Given the description of an element on the screen output the (x, y) to click on. 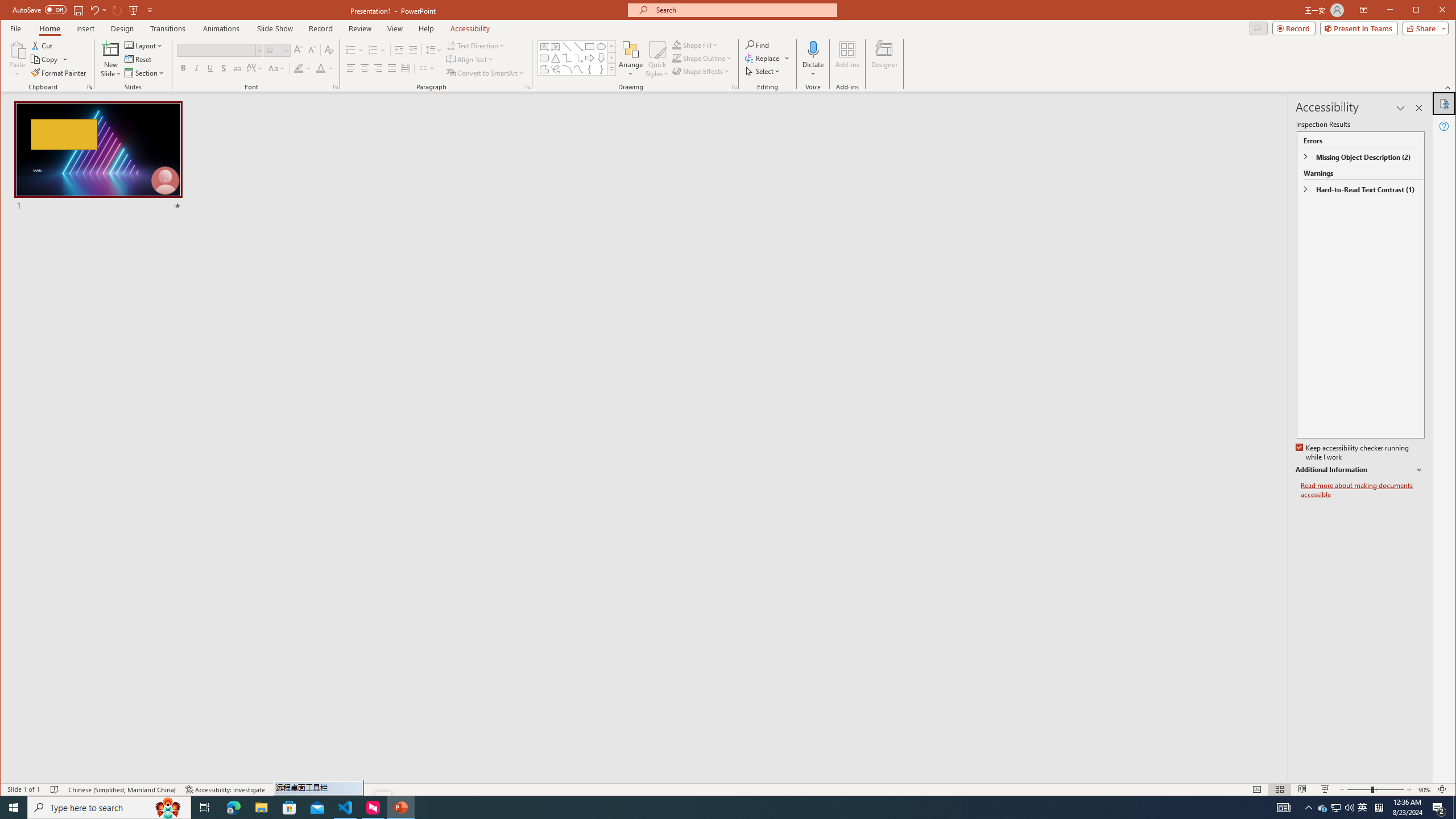
Isosceles Triangle (556, 57)
Justify (391, 68)
Connector: Elbow (567, 57)
Row up (611, 46)
Decrease Font Size (311, 49)
Ribbon Display Options (1364, 9)
Quick Access Toolbar (83, 9)
PowerPoint - 1 running window (400, 807)
Underline (209, 68)
Font (219, 49)
Shape Outline Blue, Accent 1 (676, 57)
Slide Sorter (1279, 789)
System (10, 10)
Design (122, 28)
Copy (49, 59)
